Given the description of an element on the screen output the (x, y) to click on. 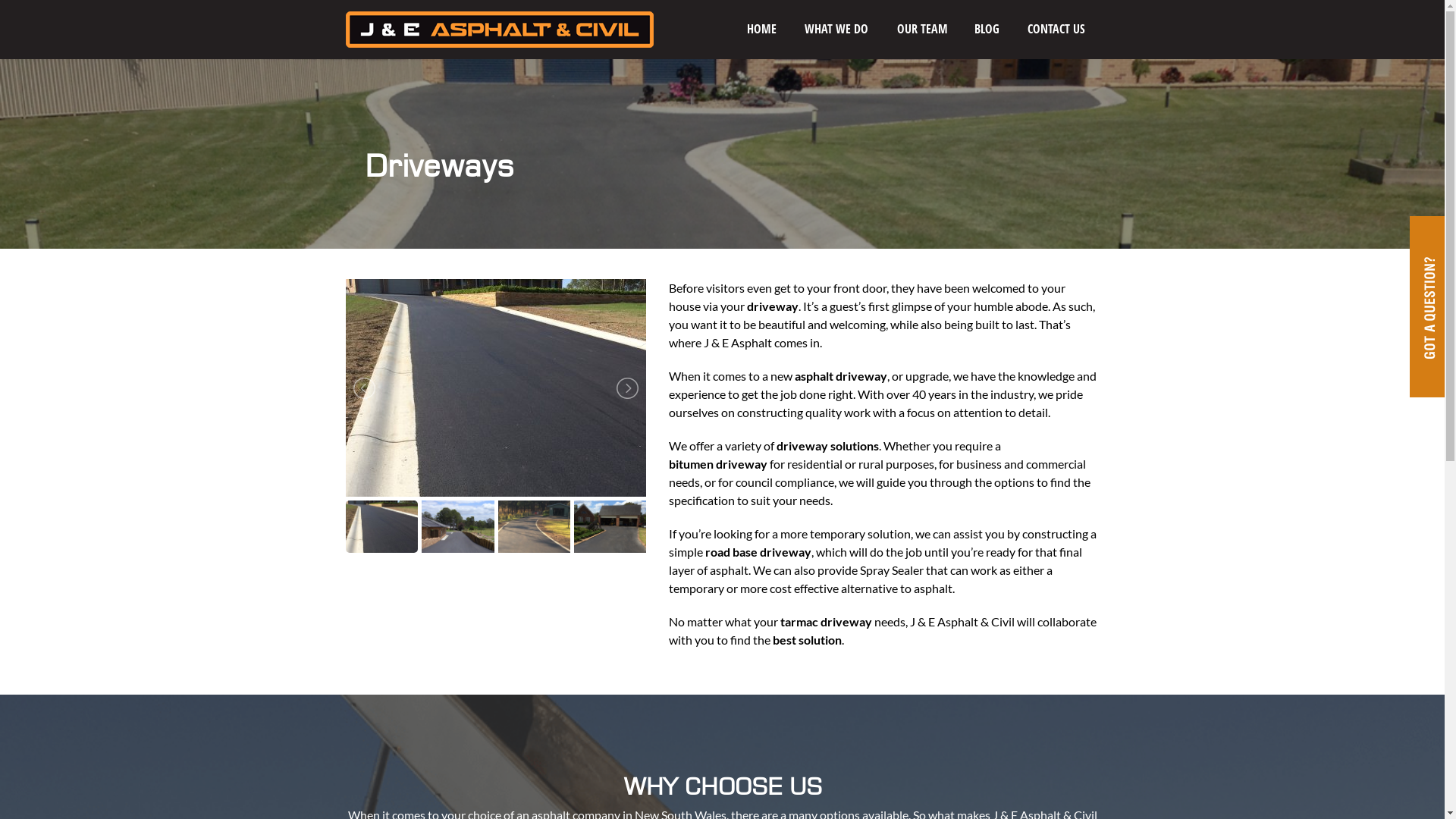
CONTACT US Element type: text (1056, 29)
Got A Question? Element type: hover (1426, 306)
BLOG Element type: text (986, 29)
J & E Asphalt & Civil Element type: hover (499, 29)
OUR TEAM Element type: text (922, 29)
HOME Element type: text (761, 29)
Completed Driveway Element type: hover (495, 387)
WHAT WE DO Element type: text (836, 29)
